Given the description of an element on the screen output the (x, y) to click on. 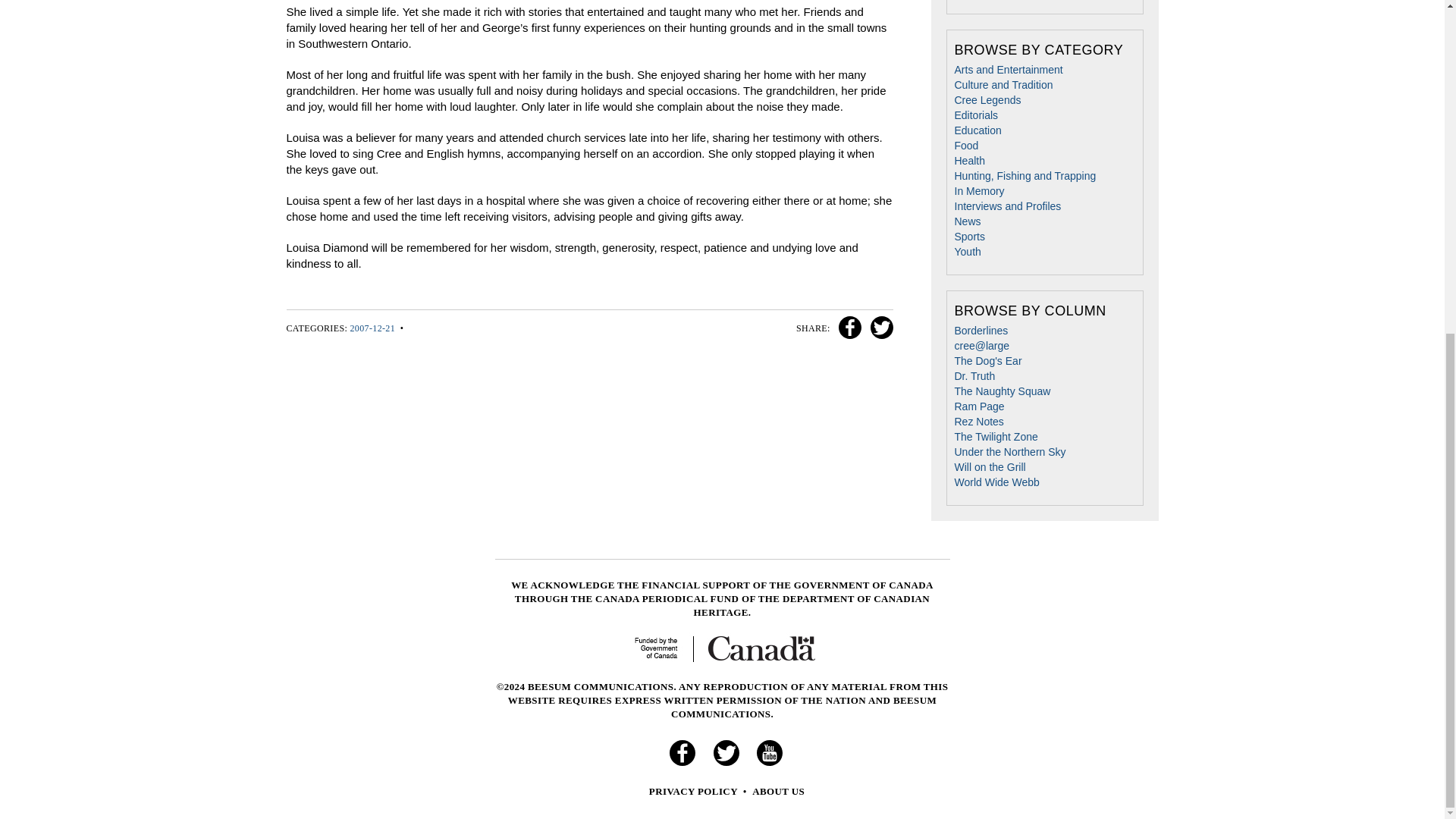
2007-12-21 (373, 327)
Food (965, 145)
Arts and Entertainment (1007, 69)
Education (977, 130)
Editorials (975, 114)
Culture and Tradition (1002, 84)
Hunting, Fishing and Trapping (1024, 175)
Share on Facebook (847, 327)
Cree Legends (986, 100)
Tweet This (878, 327)
Interviews and Profiles (1007, 205)
Health (968, 160)
In Memory (978, 191)
